Given the description of an element on the screen output the (x, y) to click on. 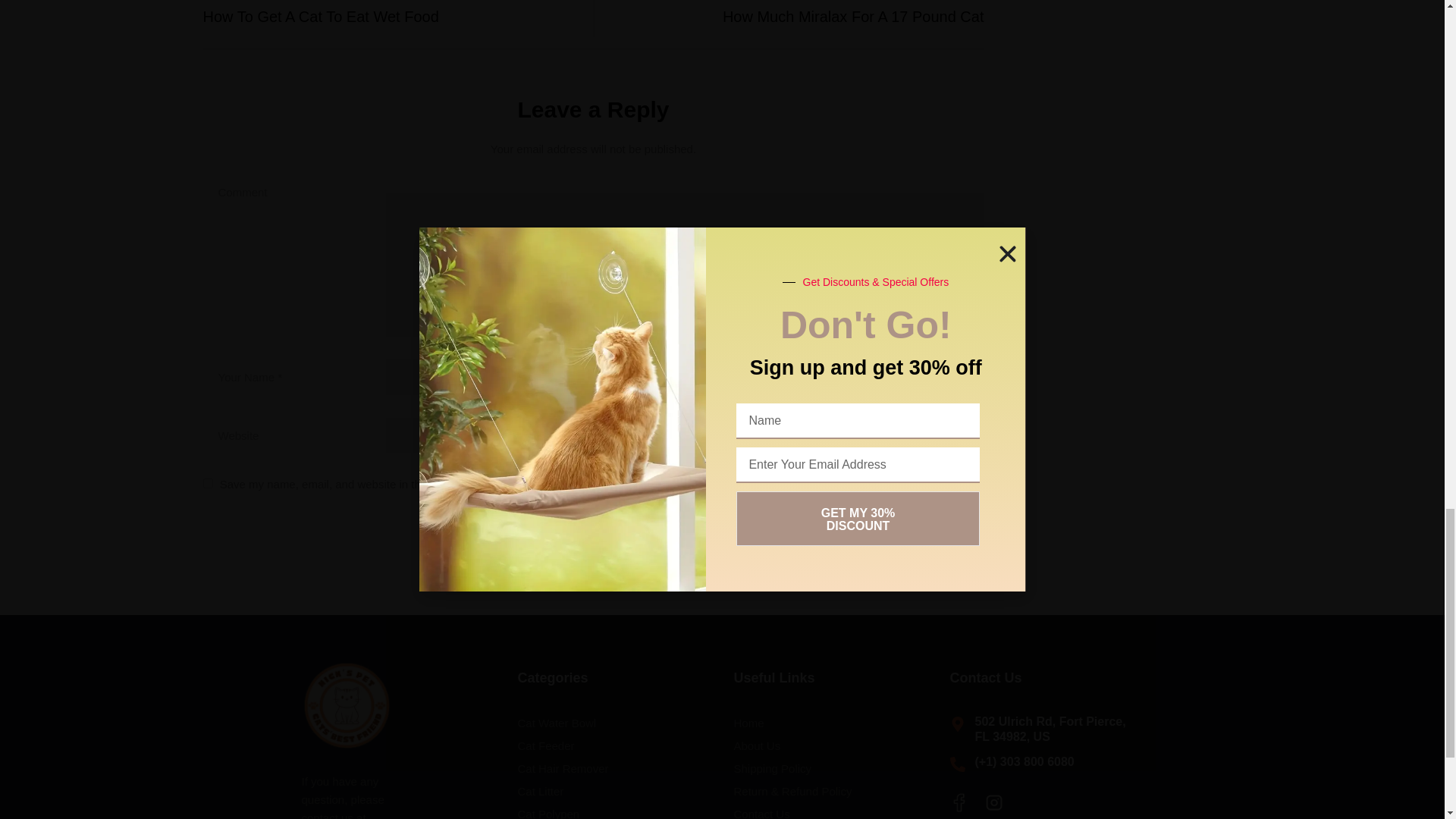
yes (207, 483)
Post Comment (392, 12)
